Given the description of an element on the screen output the (x, y) to click on. 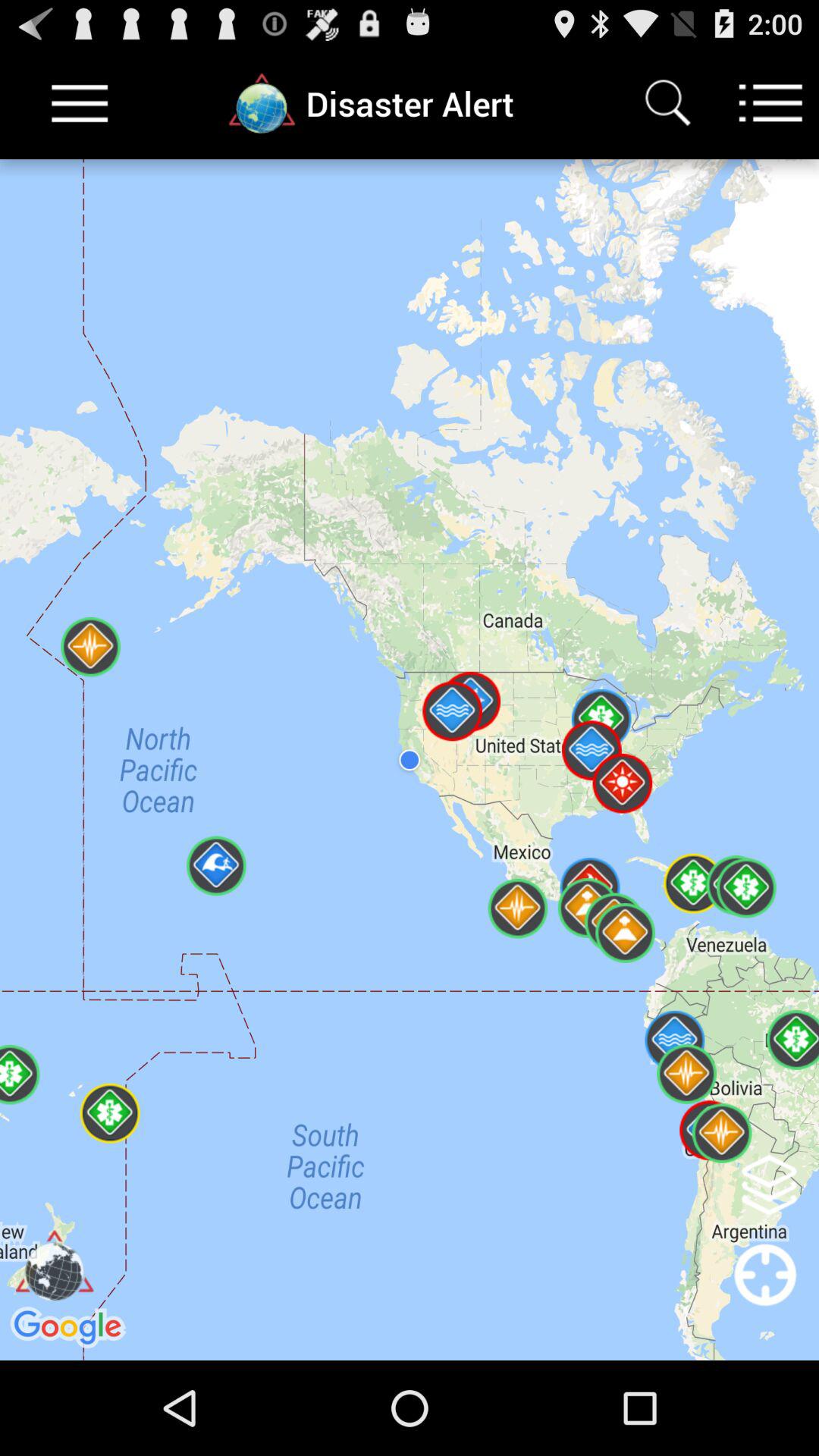
go to menu (79, 103)
